Given the description of an element on the screen output the (x, y) to click on. 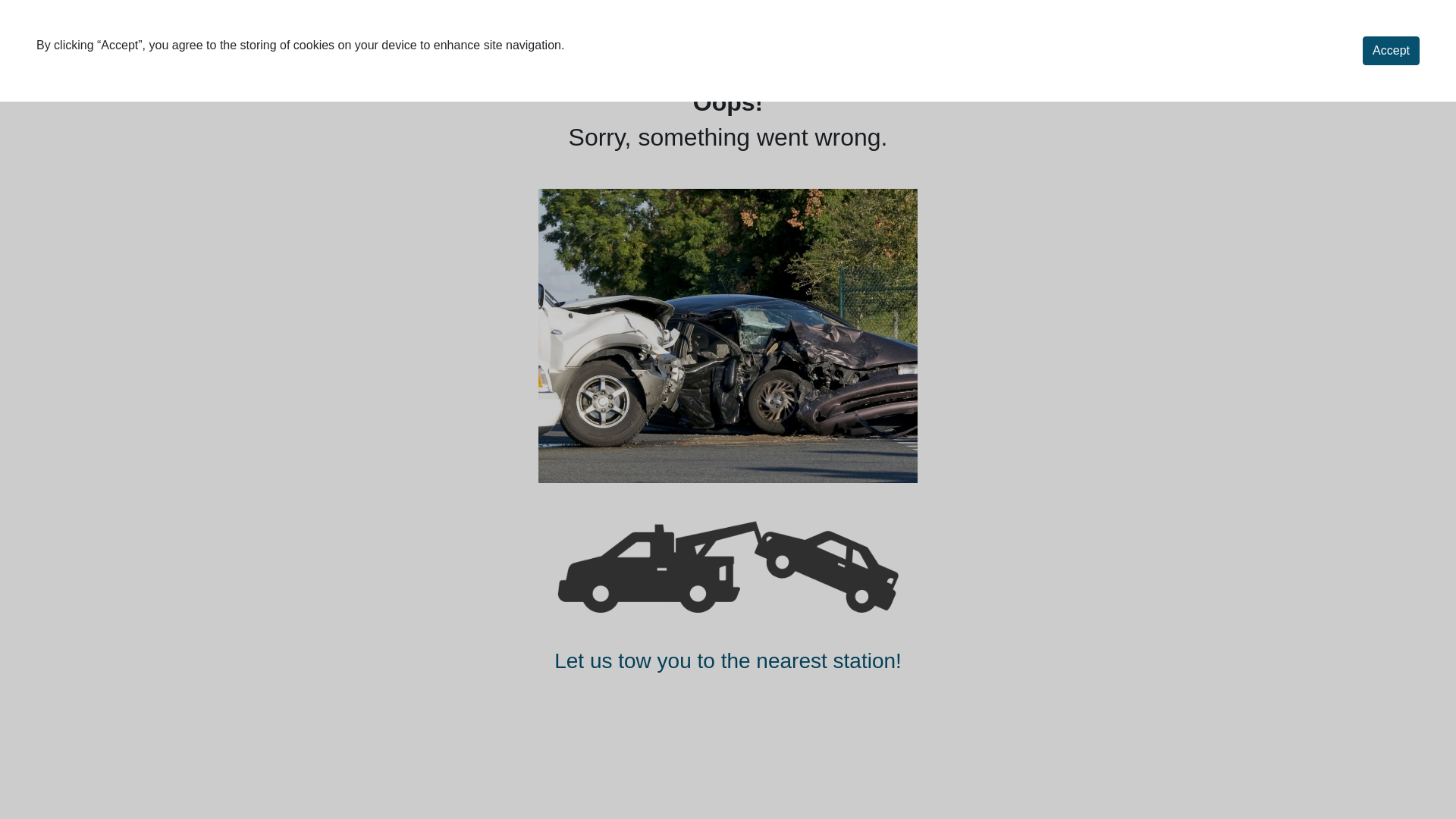
500 Element type: hover (727, 565)
Accept Element type: text (1390, 50)
500 Element type: hover (727, 335)
AutoExpert Element type: hover (100, 42)
Let us tow you to the nearest station! Element type: text (727, 661)
